Given the description of an element on the screen output the (x, y) to click on. 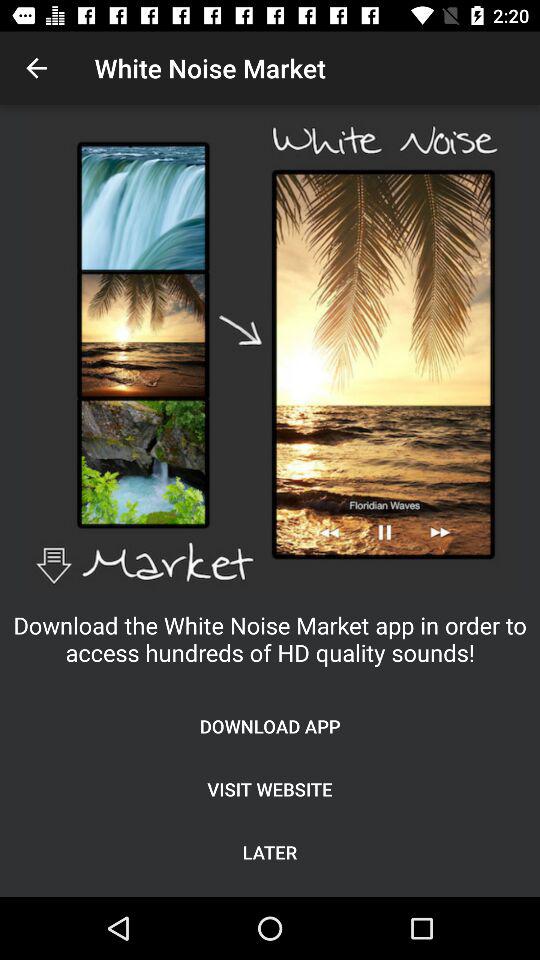
tap the icon below visit website item (269, 851)
